Given the description of an element on the screen output the (x, y) to click on. 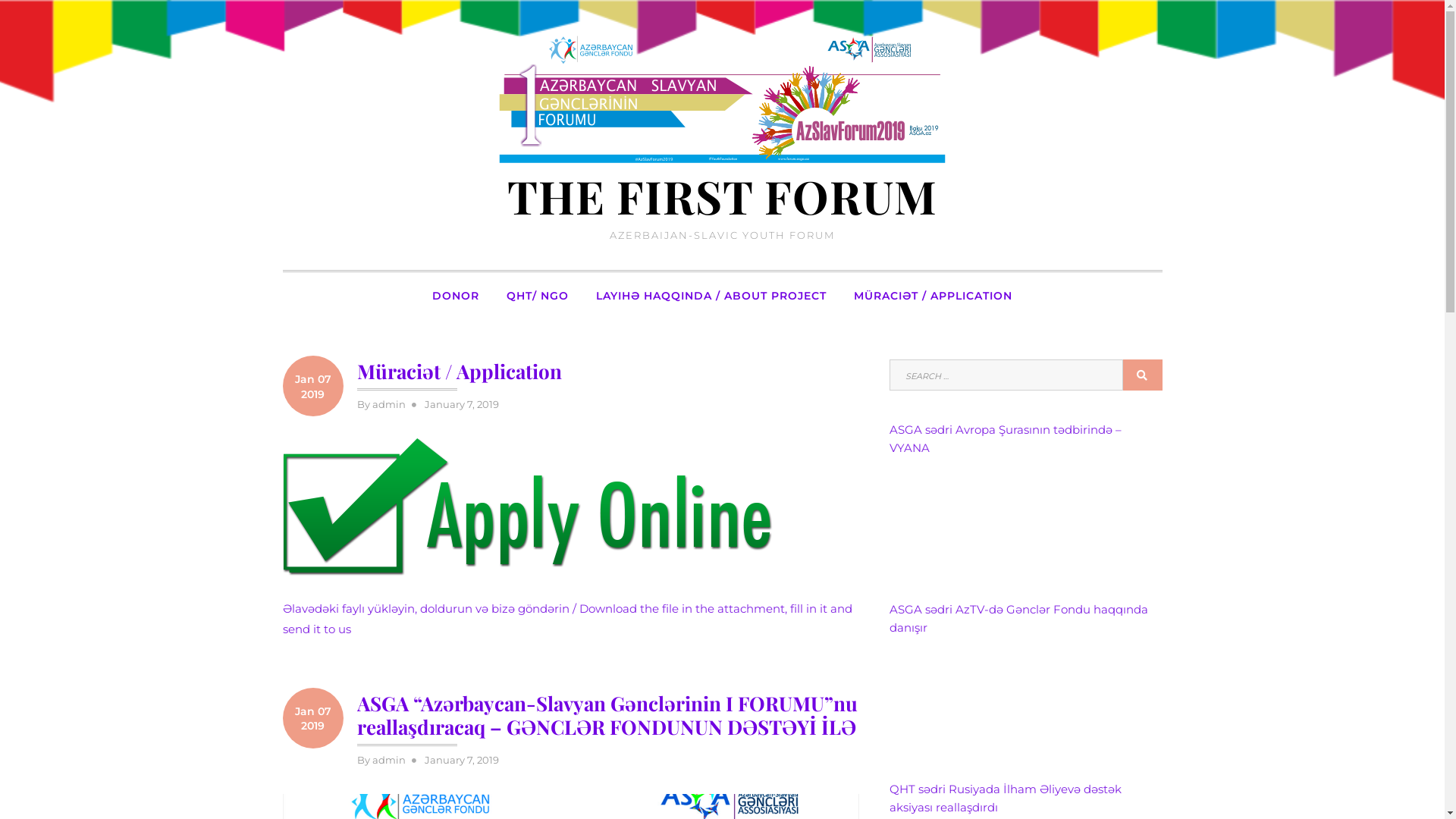
THE FIRST FORUM Element type: text (722, 195)
admin Element type: text (387, 759)
QHT/ NGO Element type: text (537, 295)
SEARCH Element type: text (1141, 374)
DONOR Element type: text (455, 295)
admin Element type: text (387, 404)
